Given the description of an element on the screen output the (x, y) to click on. 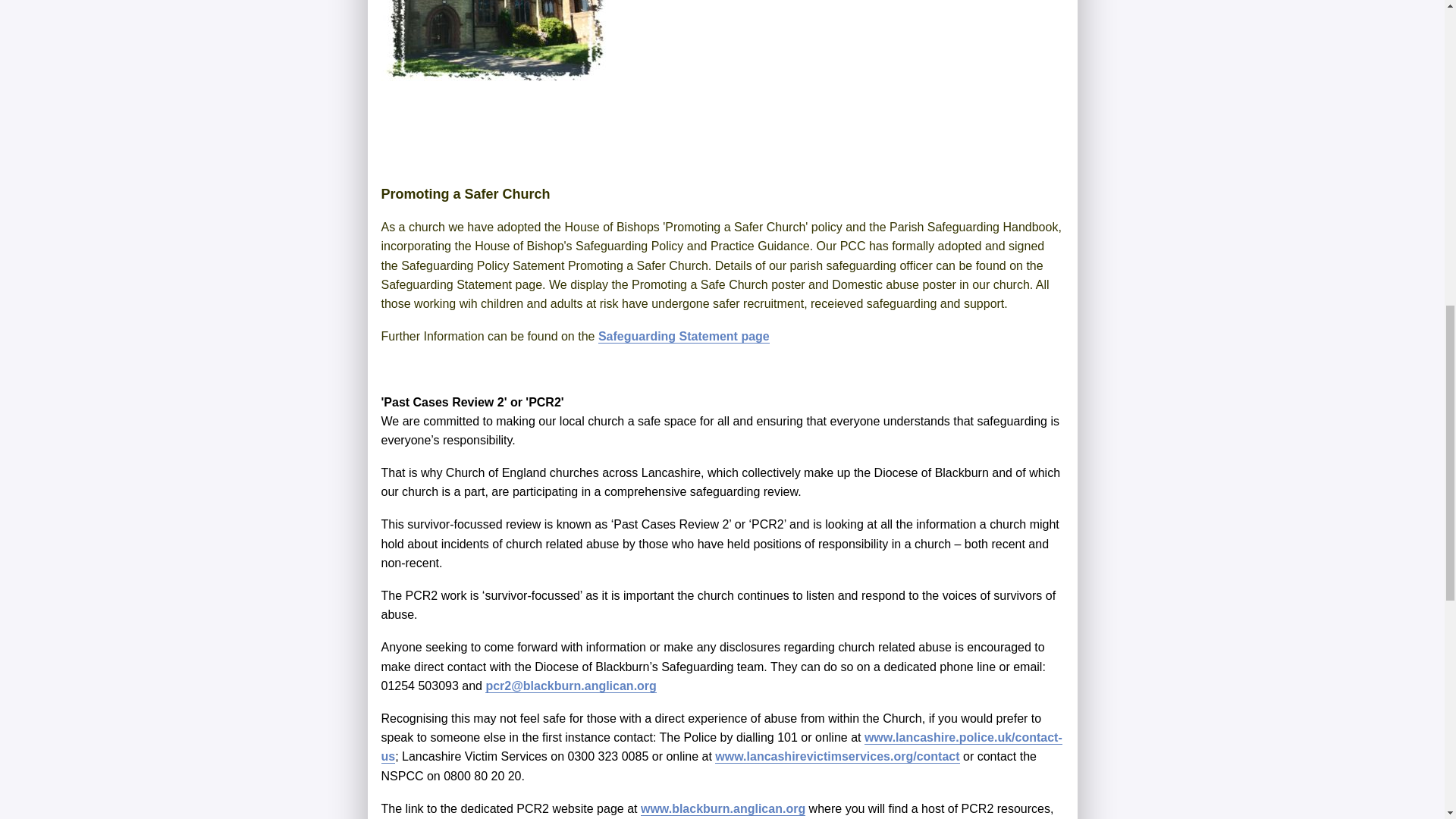
Safeguarding Statement page (684, 336)
www.blackburn.anglican.org (722, 808)
Picture of church (494, 40)
